Given the description of an element on the screen output the (x, y) to click on. 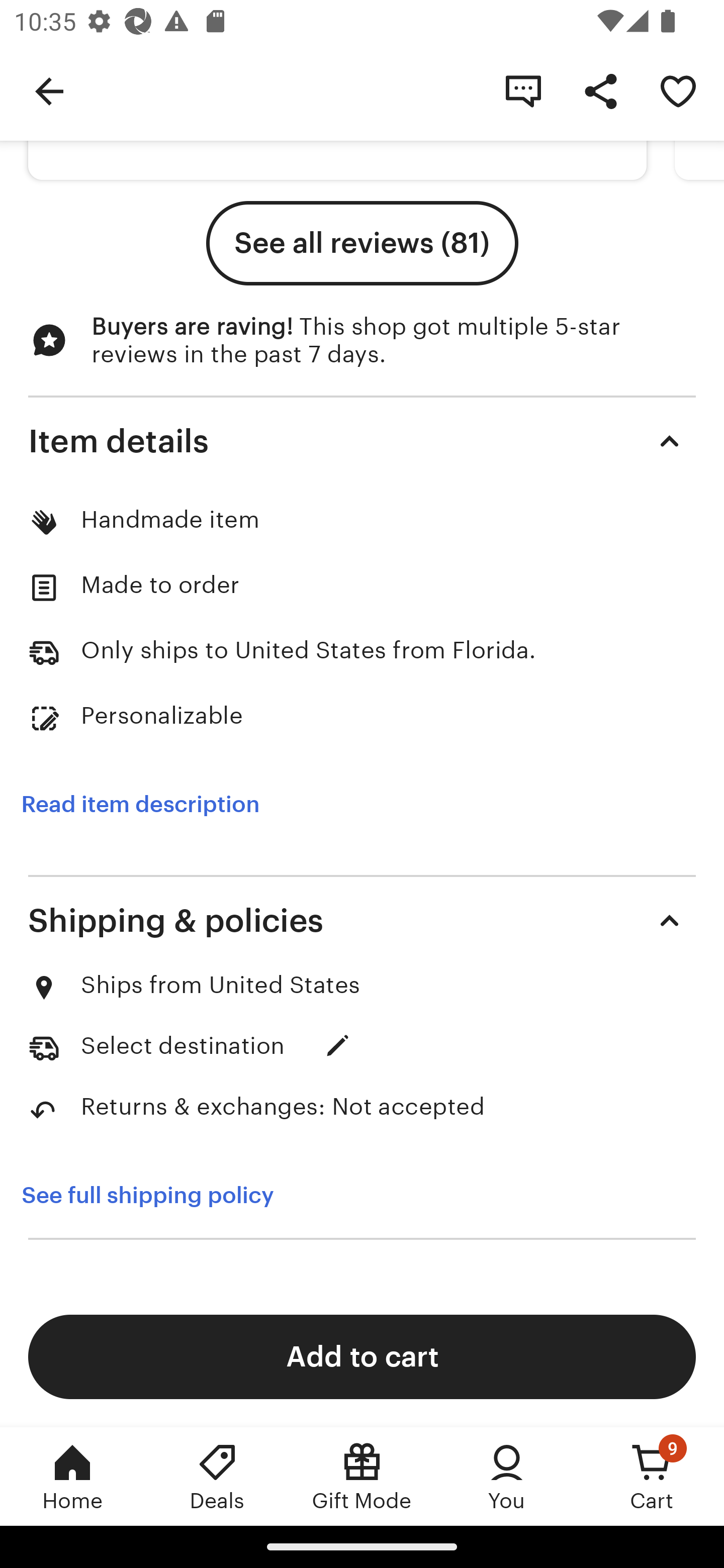
Navigate up (49, 90)
Contact shop (523, 90)
Share (600, 90)
See all reviews (81) (362, 242)
Item details (362, 441)
Read item description (140, 804)
Shipping & policies (362, 919)
Update (337, 1045)
See full shipping policy (161, 1195)
Add to cart (361, 1355)
Deals (216, 1475)
Gift Mode (361, 1475)
You (506, 1475)
Cart, 9 new notifications Cart (651, 1475)
